Given the description of an element on the screen output the (x, y) to click on. 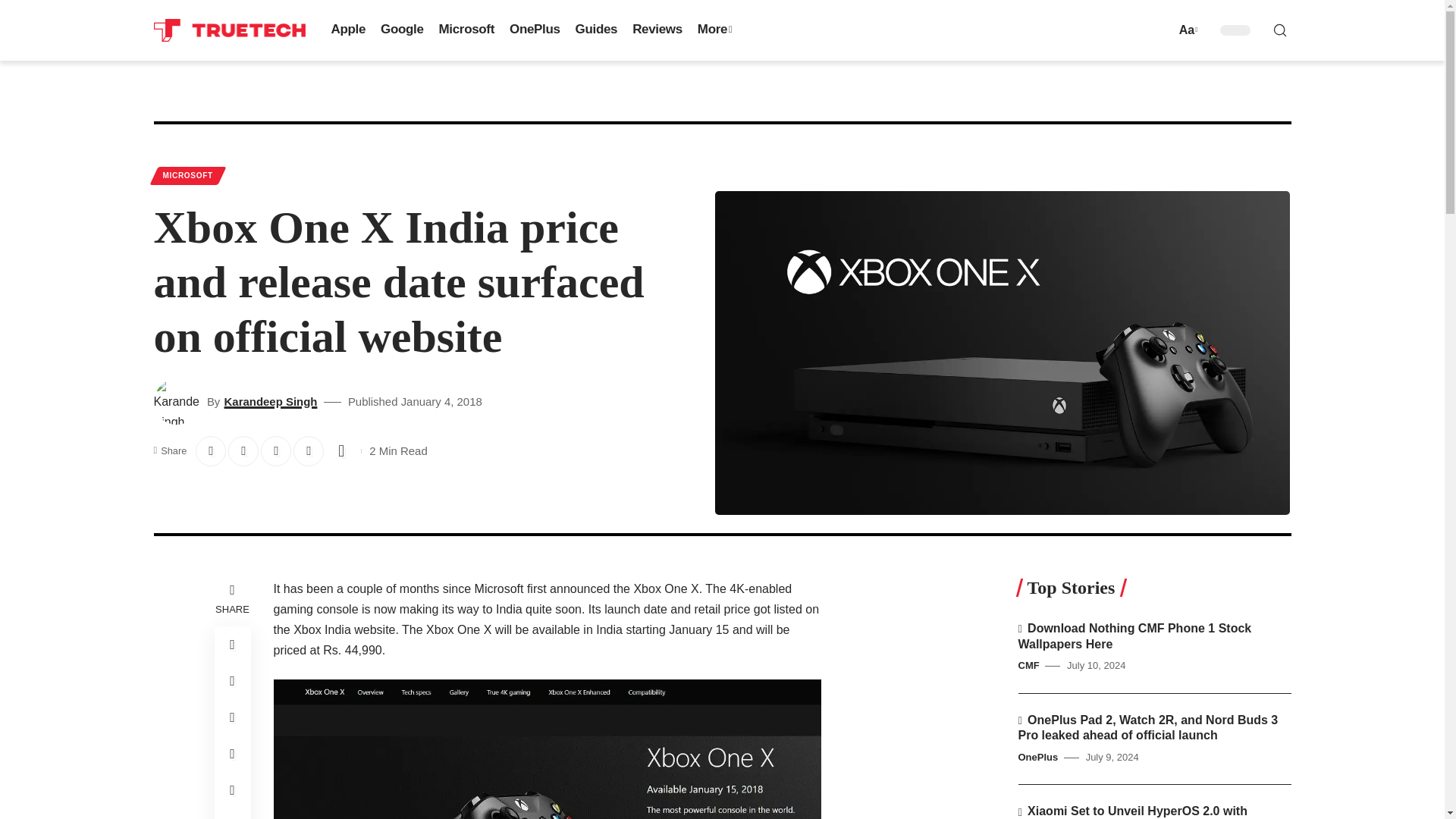
Guides (596, 30)
Reviews (657, 30)
OnePlus (534, 30)
Google (401, 30)
More (714, 30)
Microsoft (466, 30)
Apple (347, 30)
Aa (1186, 29)
